Given the description of an element on the screen output the (x, y) to click on. 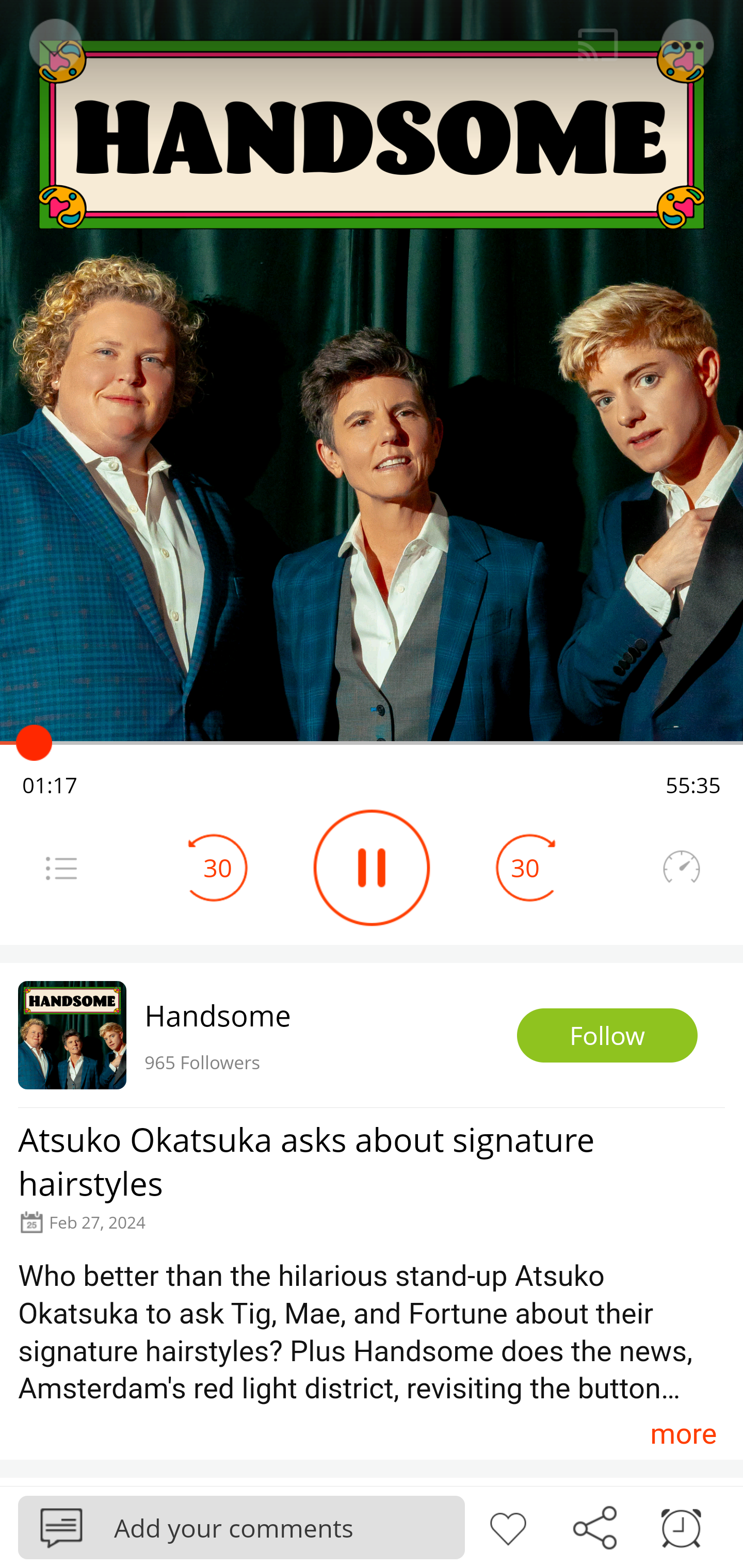
Back (53, 45)
Cast. Disconnected (597, 45)
Menu (688, 45)
Play (371, 867)
30 Seek Backward (217, 867)
30 Seek Forward (525, 867)
Menu (60, 867)
Speedometer (681, 867)
Handsome 965 Followers Follow (371, 1034)
Follow (607, 1035)
more (682, 1432)
Like (508, 1526)
Share (594, 1526)
Sleep timer (681, 1526)
Podbean Add your comments (241, 1526)
